Given the description of an element on the screen output the (x, y) to click on. 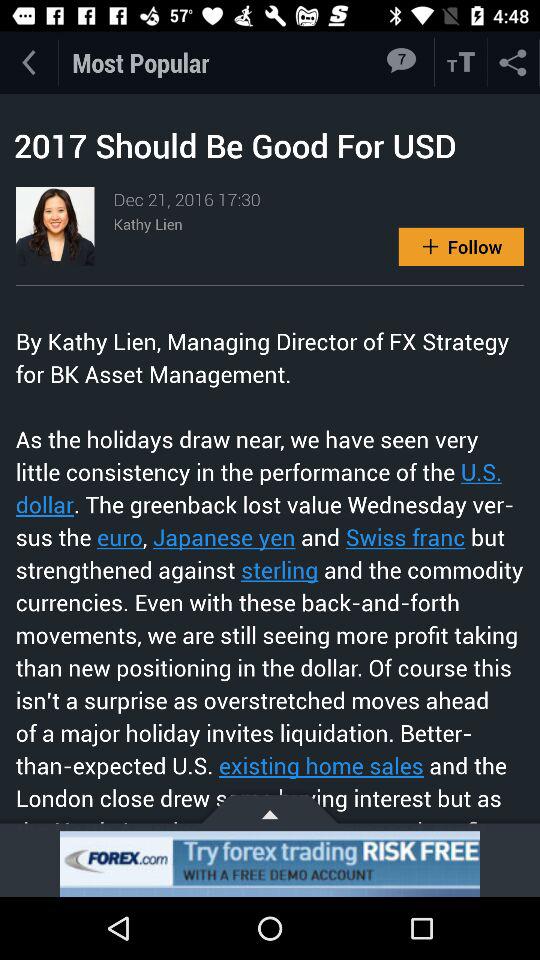
follow option (461, 246)
